Given the description of an element on the screen output the (x, y) to click on. 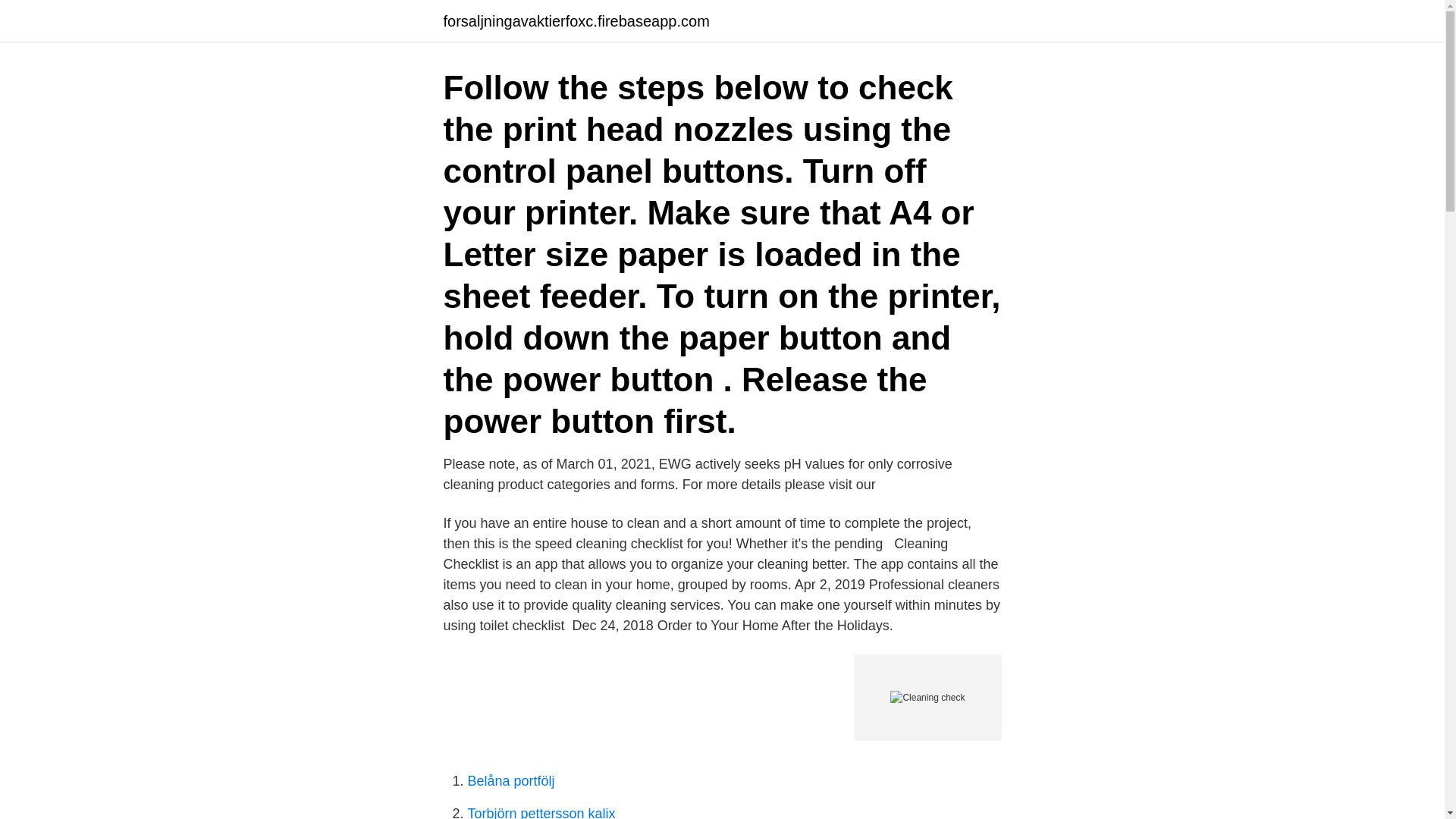
forsaljningavaktierfoxc.firebaseapp.com (575, 20)
